Given the description of an element on the screen output the (x, y) to click on. 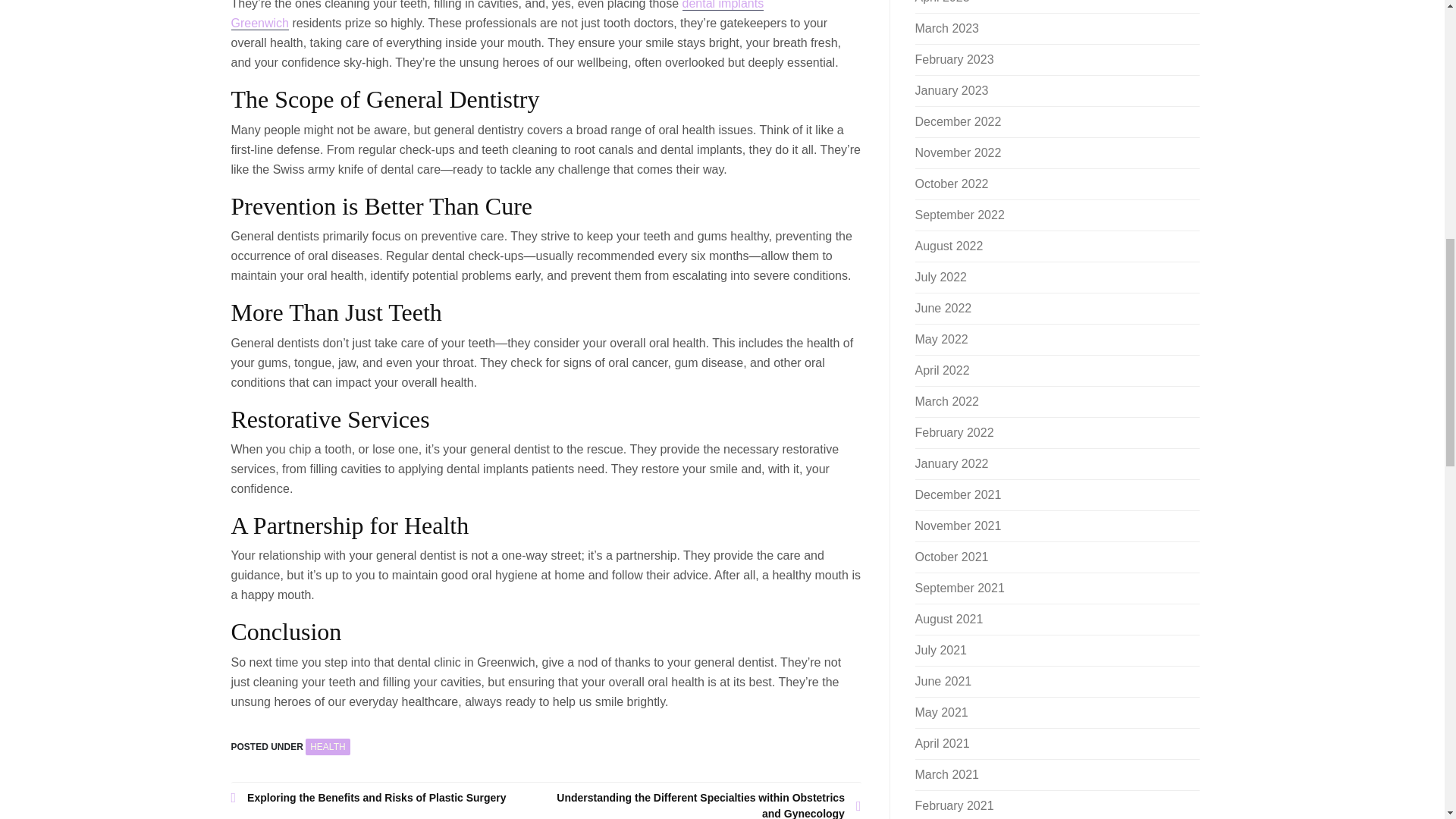
HEALTH (327, 746)
dental implants Greenwich (496, 15)
Exploring the Benefits and Risks of Plastic Surgery (388, 797)
